Given the description of an element on the screen output the (x, y) to click on. 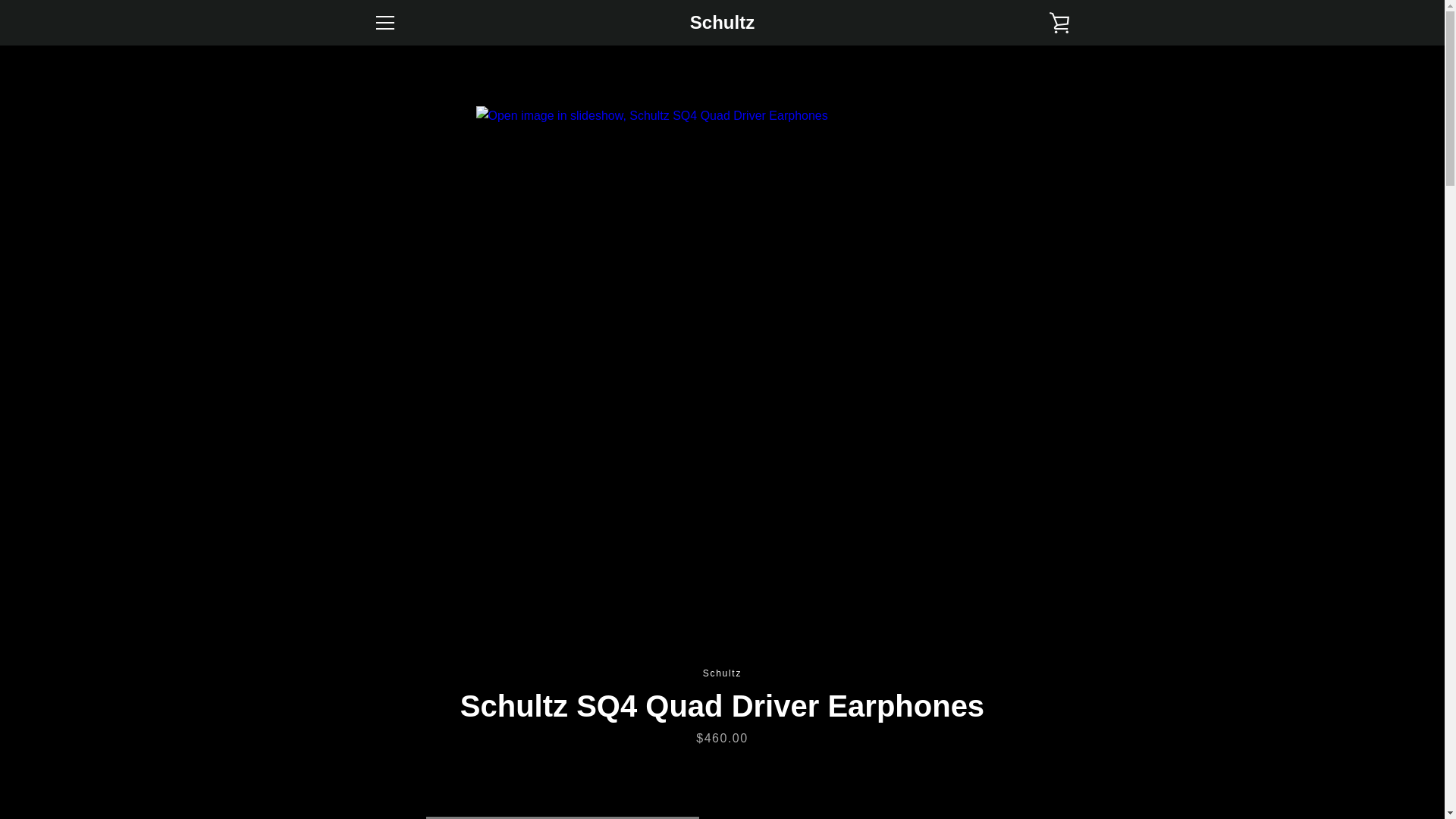
VIEW CART (1059, 22)
MENU (384, 22)
Schultz (722, 23)
